Given the description of an element on the screen output the (x, y) to click on. 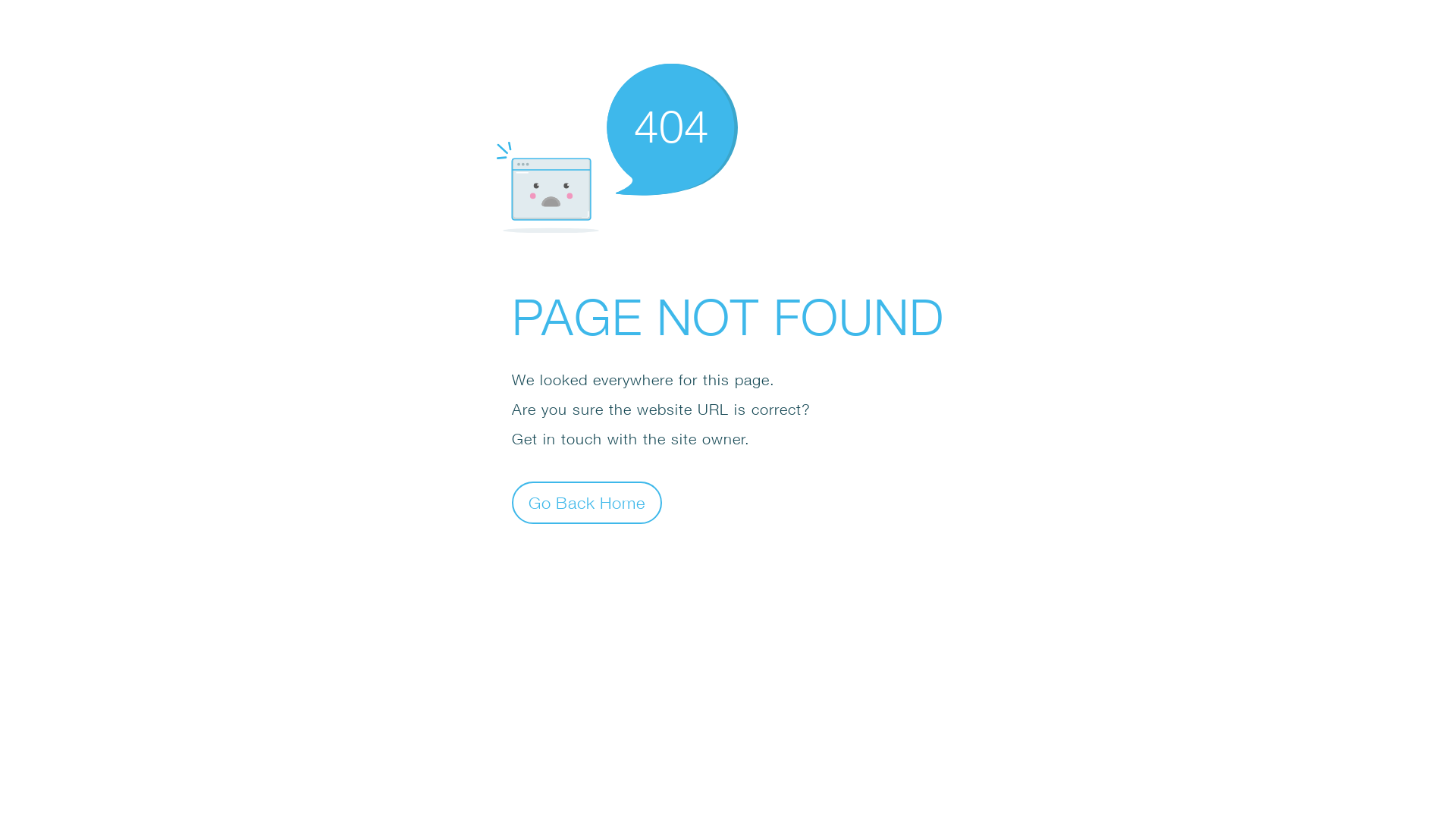
Go Back Home Element type: text (586, 502)
